Given the description of an element on the screen output the (x, y) to click on. 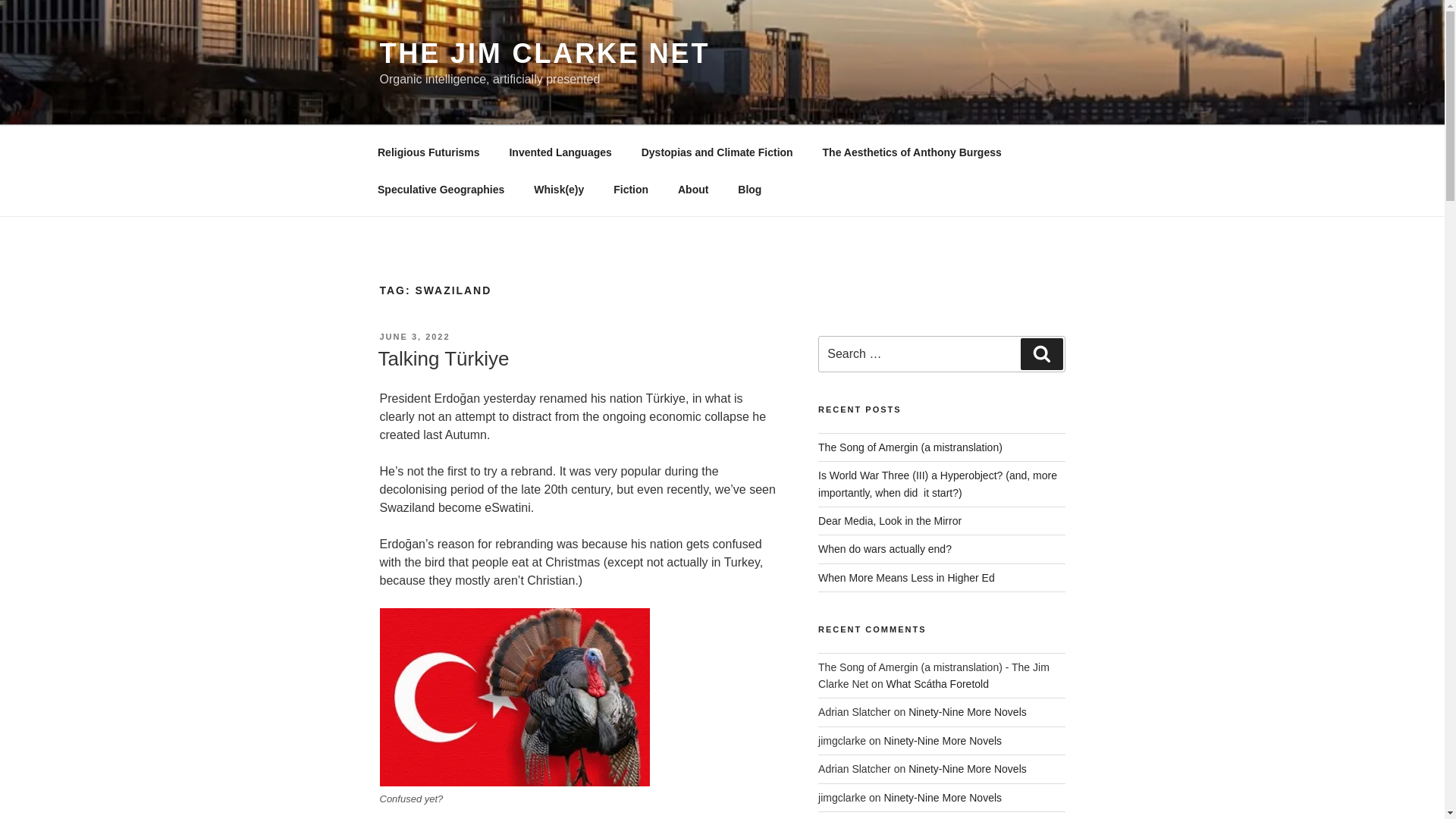
About (691, 189)
Blog (749, 189)
Speculative Geographies (440, 189)
Dear Media, Look in the Mirror (889, 521)
The Aesthetics of Anthony Burgess (911, 151)
When More Means Less in Higher Ed (906, 577)
Ninety-Nine More Novels (967, 711)
JUNE 3, 2022 (413, 336)
Religious Futurisms (428, 151)
Ninety-Nine More Novels (942, 797)
Fiction (630, 189)
Invented Languages (560, 151)
Ninety-Nine More Novels (942, 740)
THE JIM CLARKE NET (544, 52)
Ninety-Nine More Novels (967, 768)
